Given the description of an element on the screen output the (x, y) to click on. 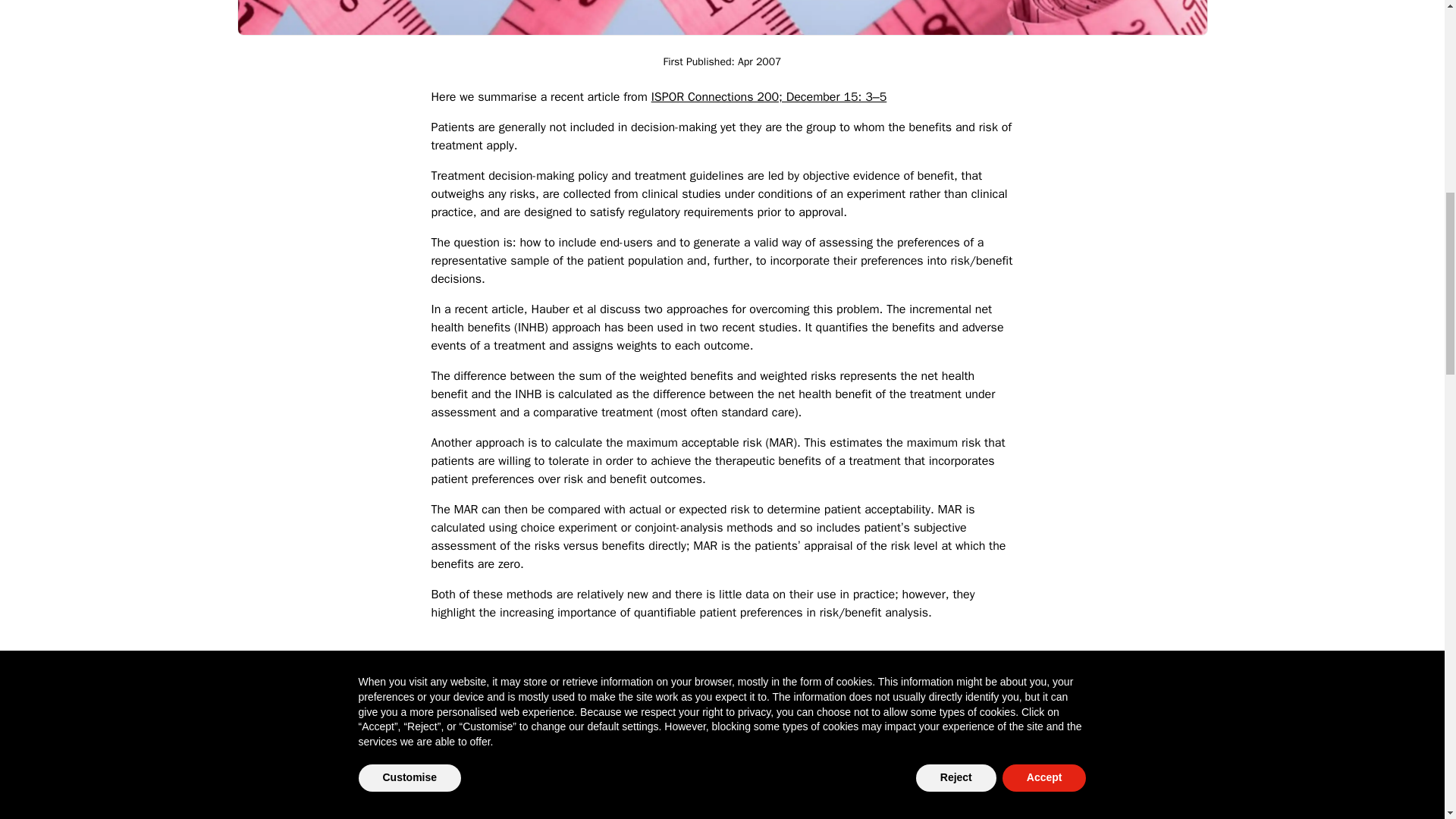
Subscribe (859, 777)
